Given the description of an element on the screen output the (x, y) to click on. 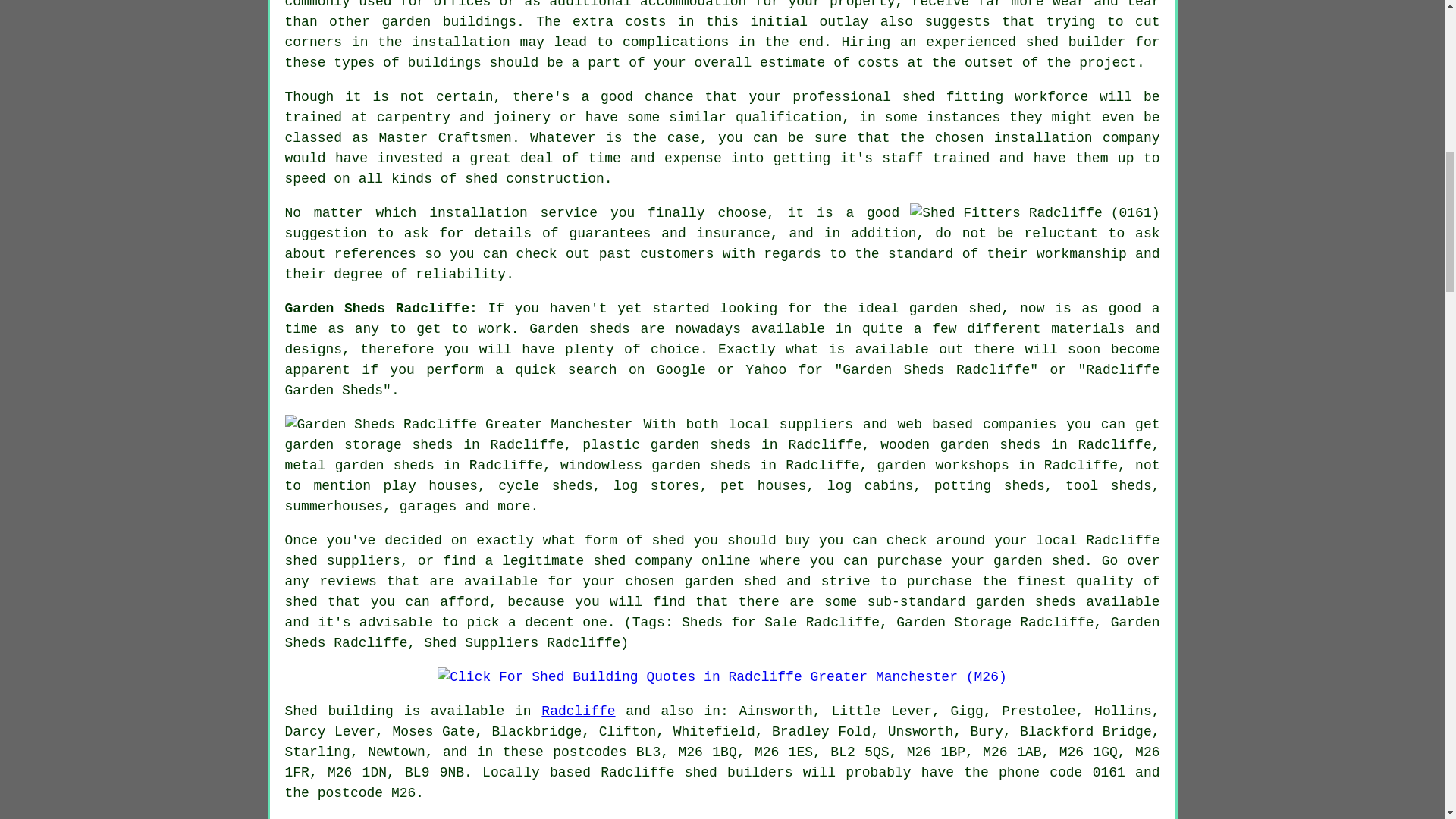
Garden Sheds Radcliffe Greater Manchester (459, 424)
